Given the description of an element on the screen output the (x, y) to click on. 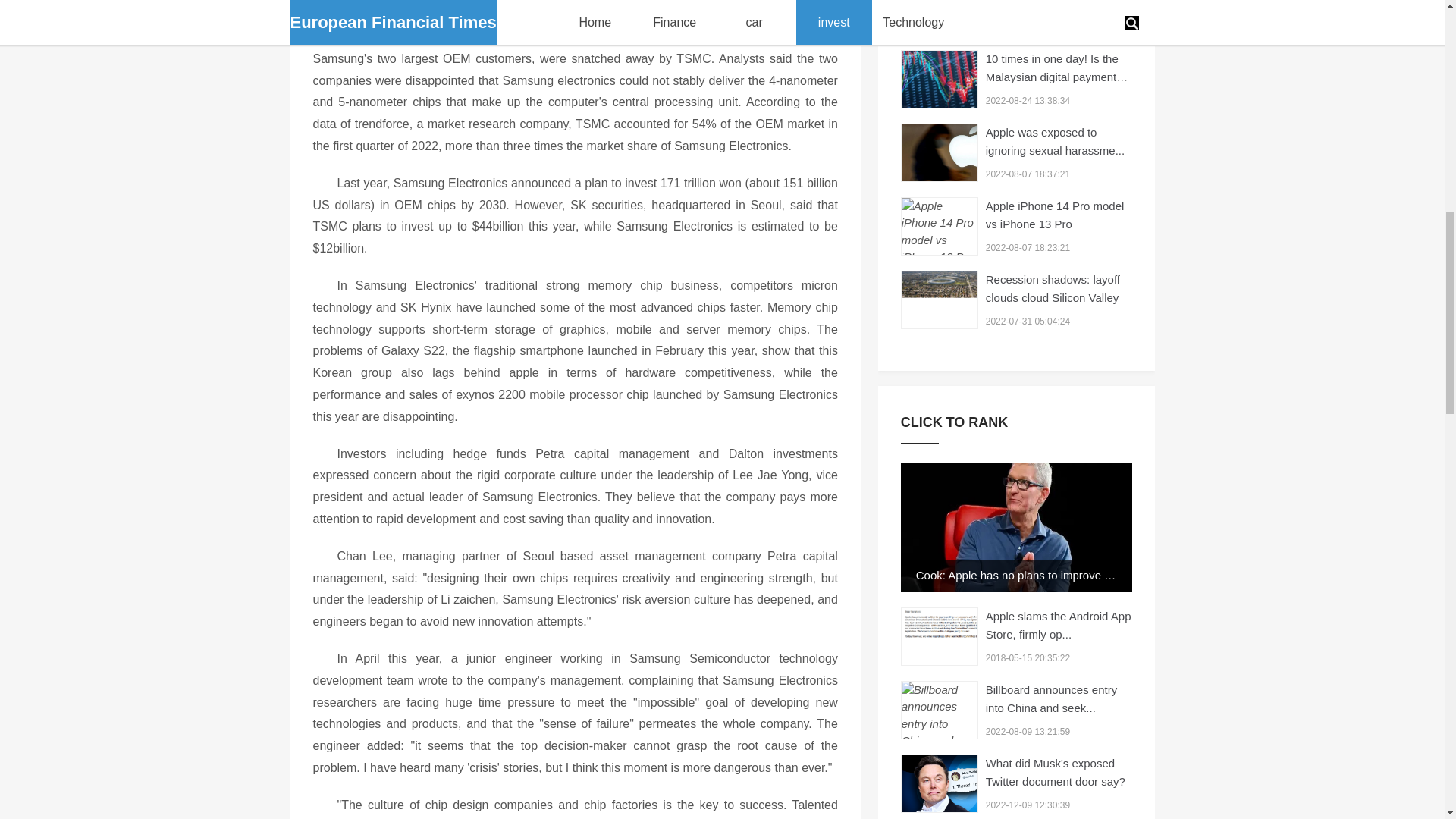
chip folding (944, 17)
Apple iPhone 14 Pro model vs iPhone 13 Pro (1054, 214)
Cook: Apple has no plans to improve the tex... (1031, 574)
Billboard announces entry into China and seek... (1050, 698)
What did Musk's exposed Twitter document door say? (1055, 771)
Recession shadows: layoff clouds cloud Silicon Valley (1052, 287)
Apple slams the Android App Store, firmly op... (1058, 624)
Apple was exposed to ignoring sexual harassme... (1054, 141)
